Given the description of an element on the screen output the (x, y) to click on. 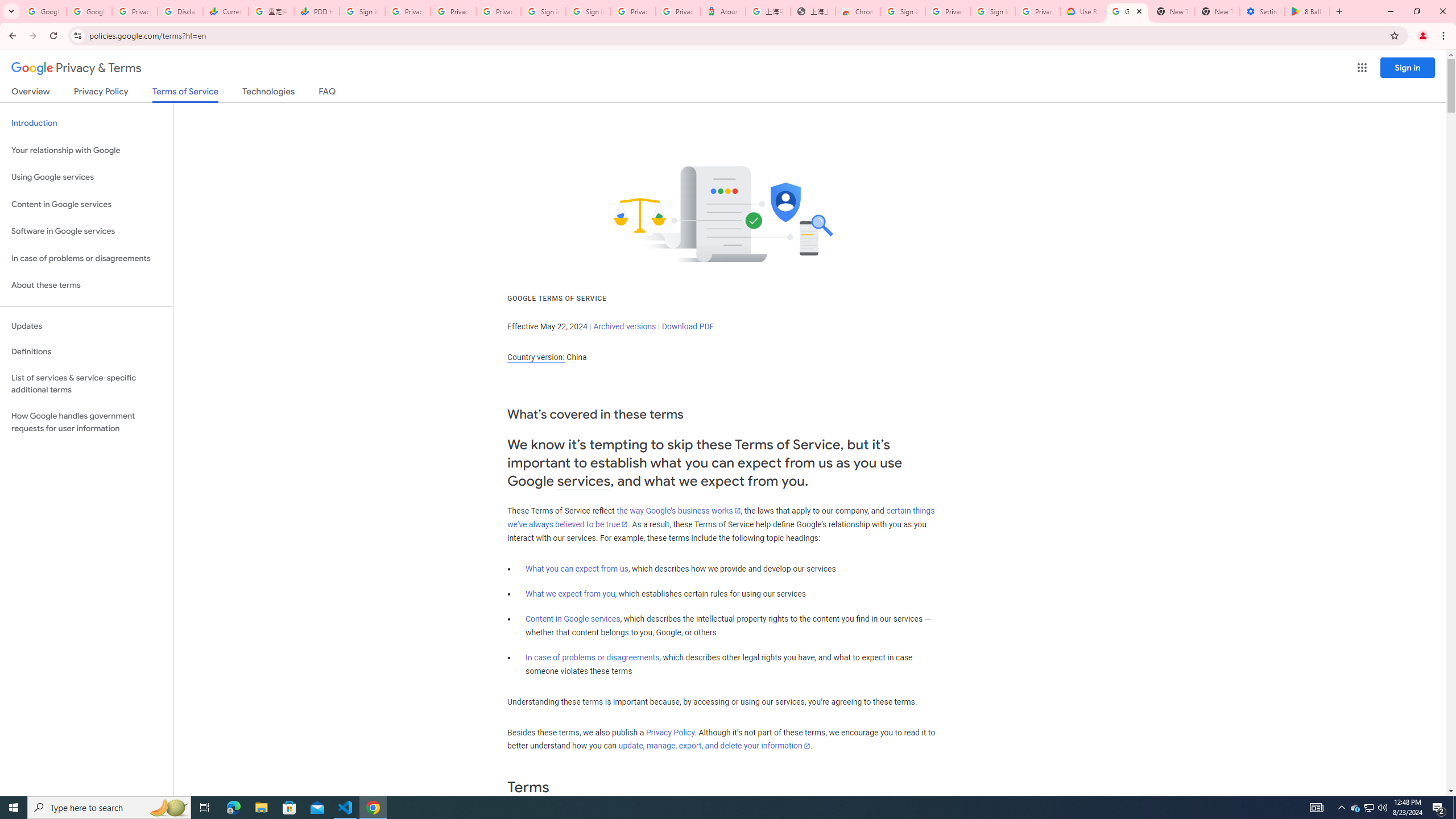
Sign in - Google Accounts (587, 11)
Archived versions (624, 326)
Currencies - Google Finance (225, 11)
Download PDF (687, 326)
How Google handles government requests for user information (86, 422)
Sign in - Google Accounts (902, 11)
Sign in - Google Accounts (542, 11)
Atour Hotel - Google hotels (723, 11)
